Given the description of an element on the screen output the (x, y) to click on. 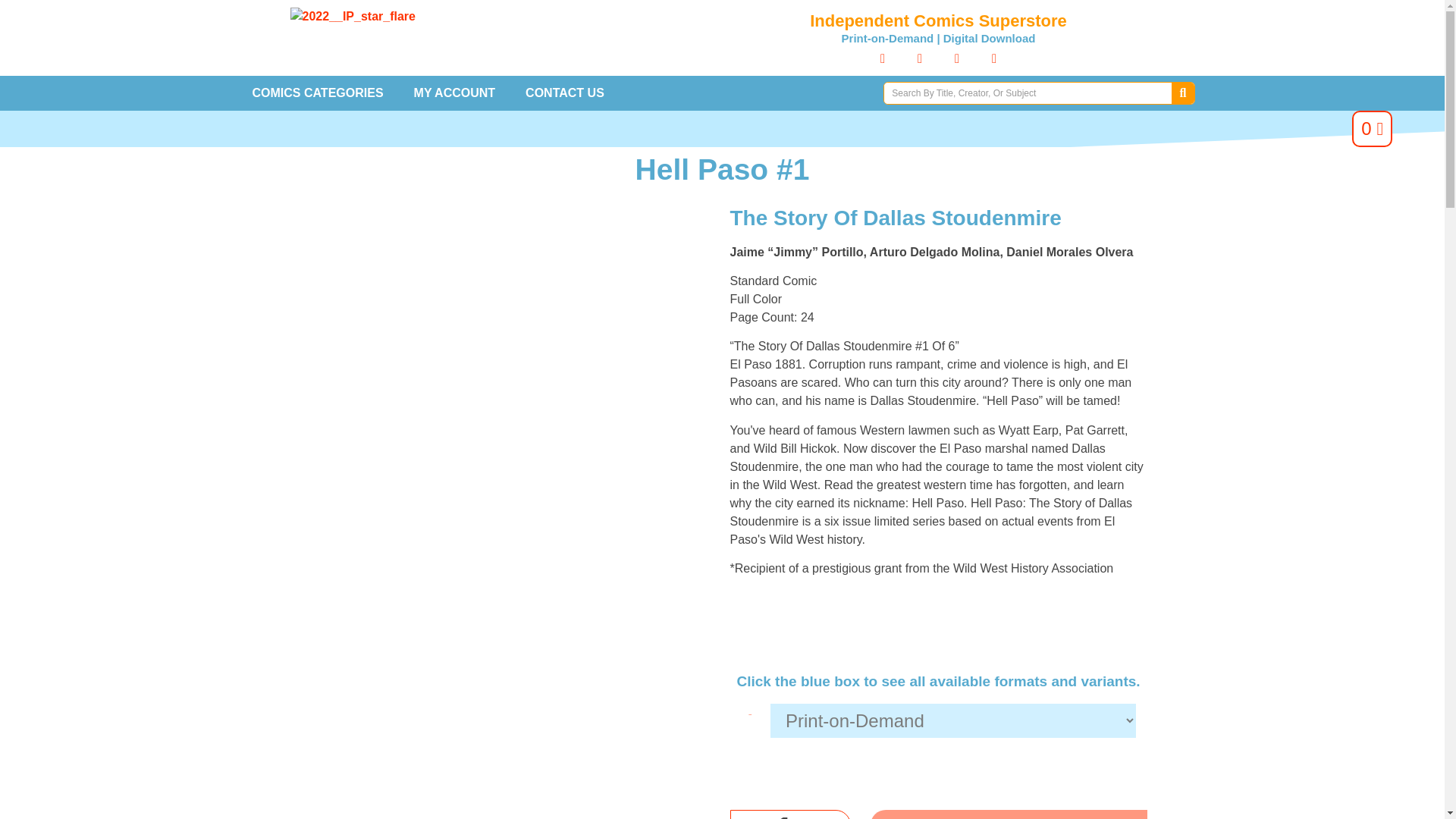
Add to cart (1008, 814)
COMICS CATEGORIES (316, 92)
CONTACT US (565, 92)
MY ACCOUNT (454, 92)
1 (789, 814)
0 (1371, 128)
